Given the description of an element on the screen output the (x, y) to click on. 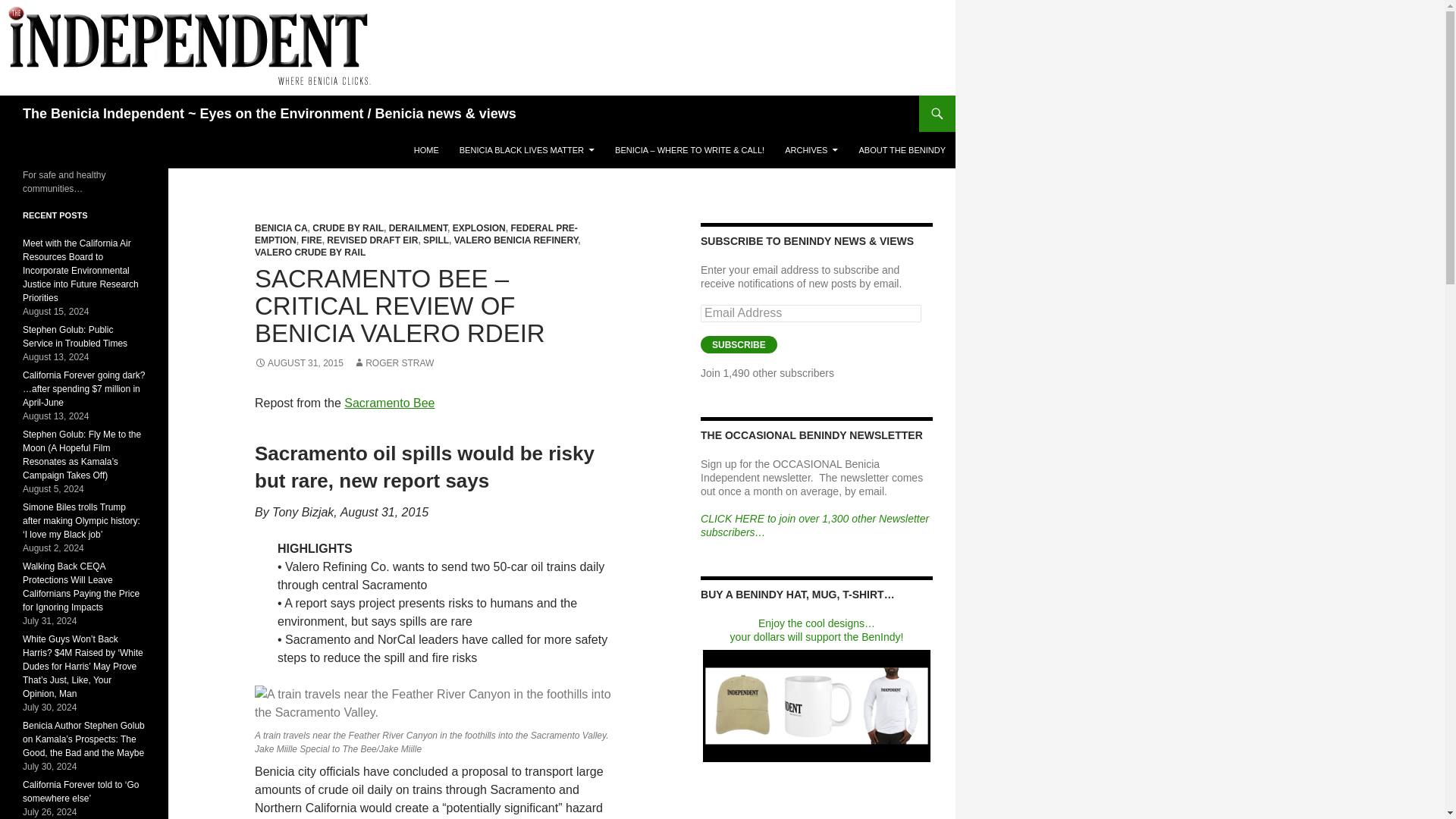
HOME (426, 149)
BENICIA BLACK LIVES MATTER (526, 149)
ARCHIVES (811, 149)
